Given the description of an element on the screen output the (x, y) to click on. 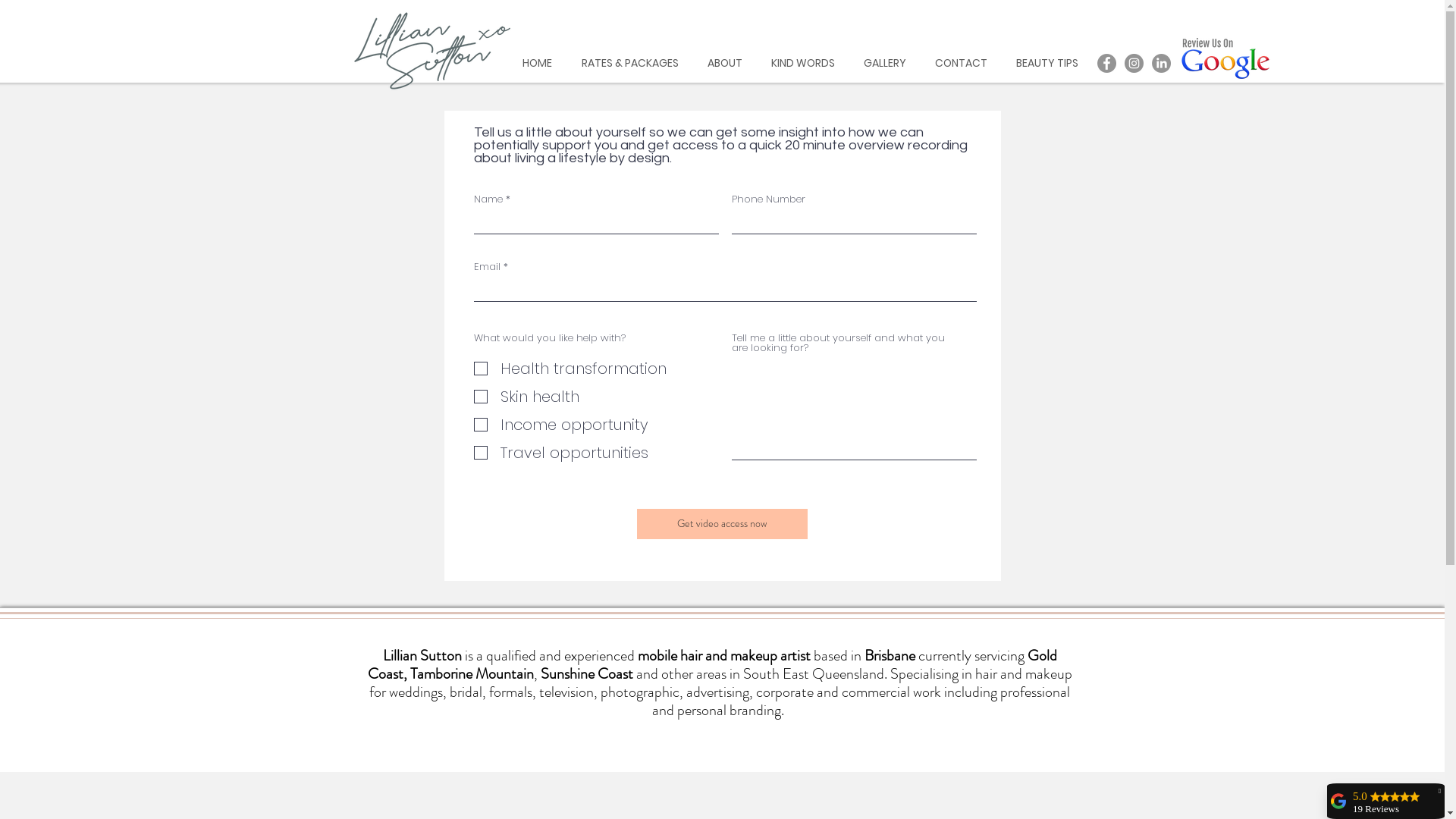
RATES & PACKAGES Element type: text (630, 63)
HOME Element type: text (537, 63)
GALLERY Element type: text (884, 63)
Get video access now Element type: text (722, 523)
KIND WORDS Element type: text (802, 63)
CONTACT Element type: text (960, 63)
ABOUT Element type: text (724, 63)
